Given the description of an element on the screen output the (x, y) to click on. 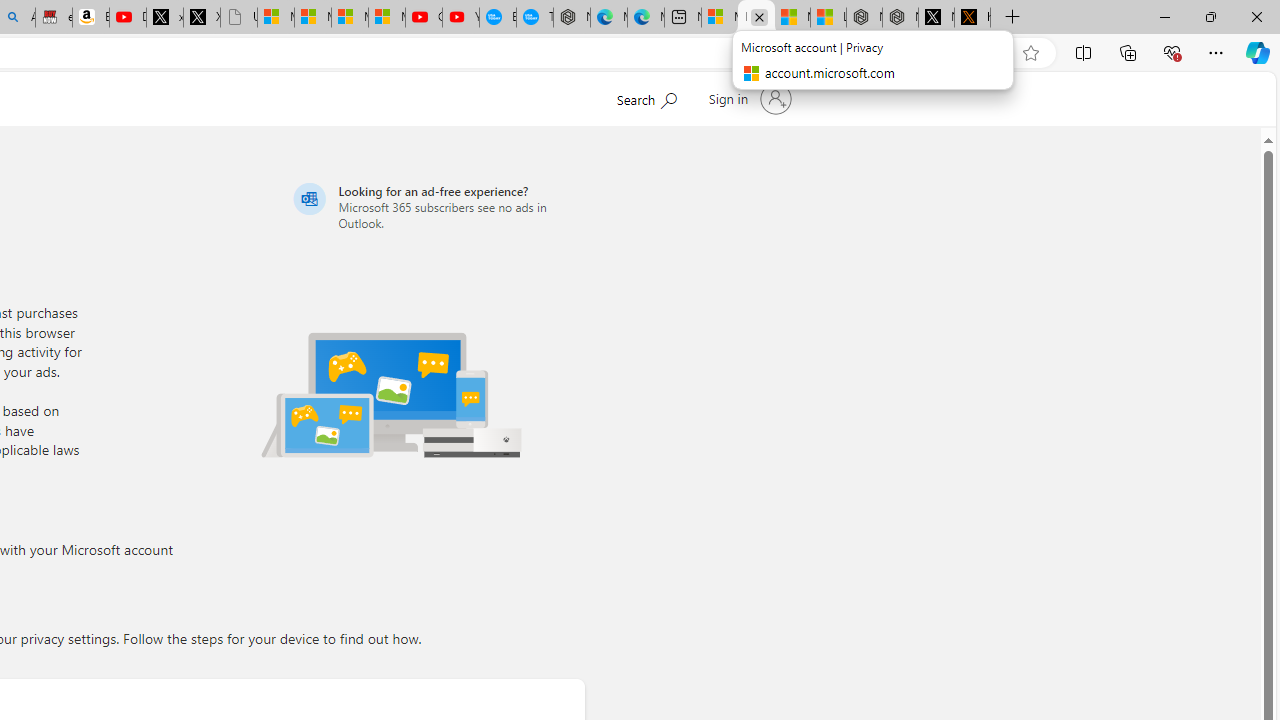
Looking for an ad-free experience? (436, 206)
Illustration of multiple devices (391, 394)
Search Microsoft.com (646, 97)
Nordace - Nordace has arrived Hong Kong (572, 17)
Nordace (@NordaceOfficial) / X (936, 17)
Day 1: Arriving in Yemen (surreal to be here) - YouTube (127, 17)
Sign in to your account (748, 98)
